Given the description of an element on the screen output the (x, y) to click on. 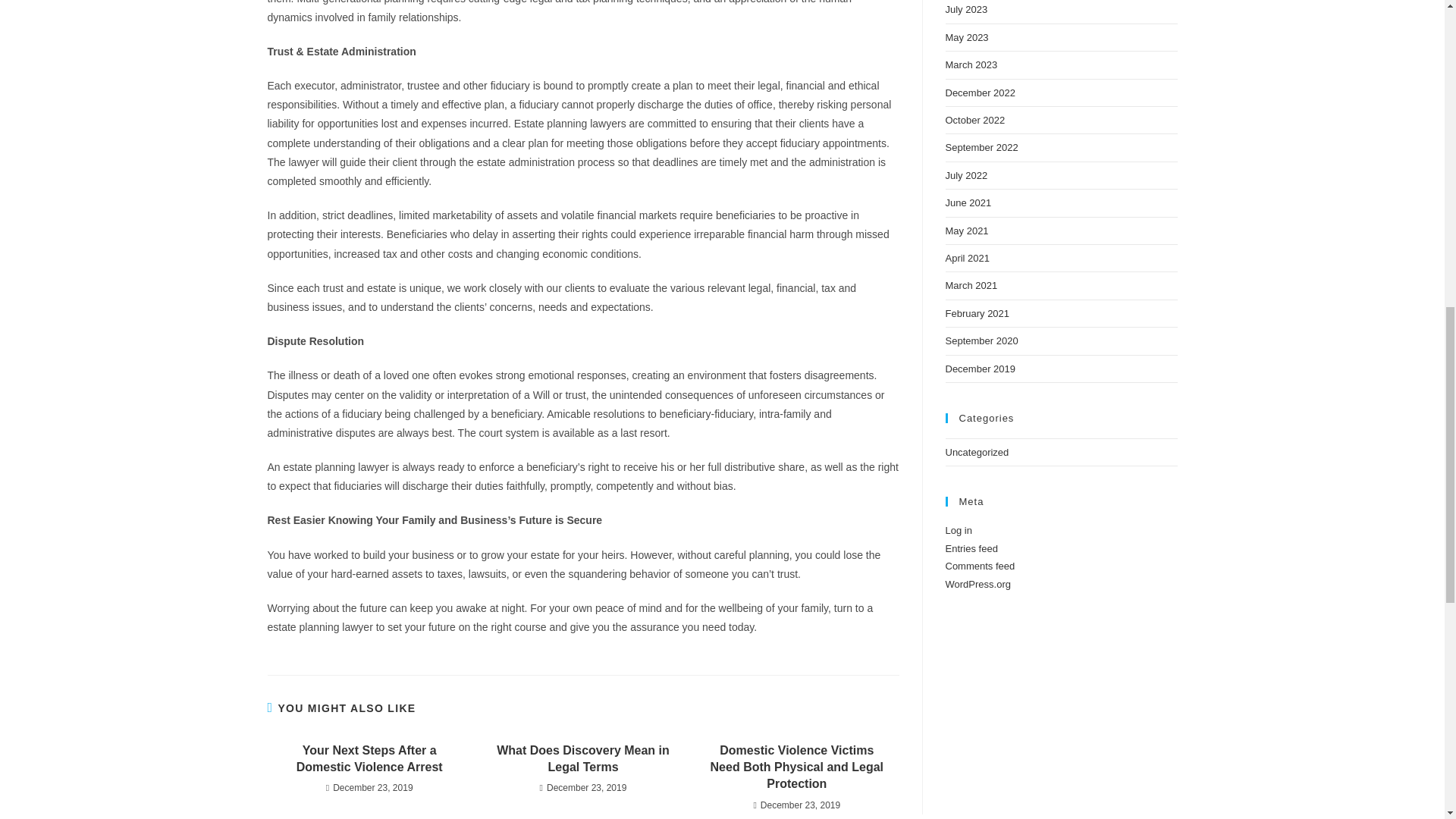
What Does Discovery Mean in Legal Terms (582, 759)
Your Next Steps After a Domestic Violence Arrest (368, 759)
